Given the description of an element on the screen output the (x, y) to click on. 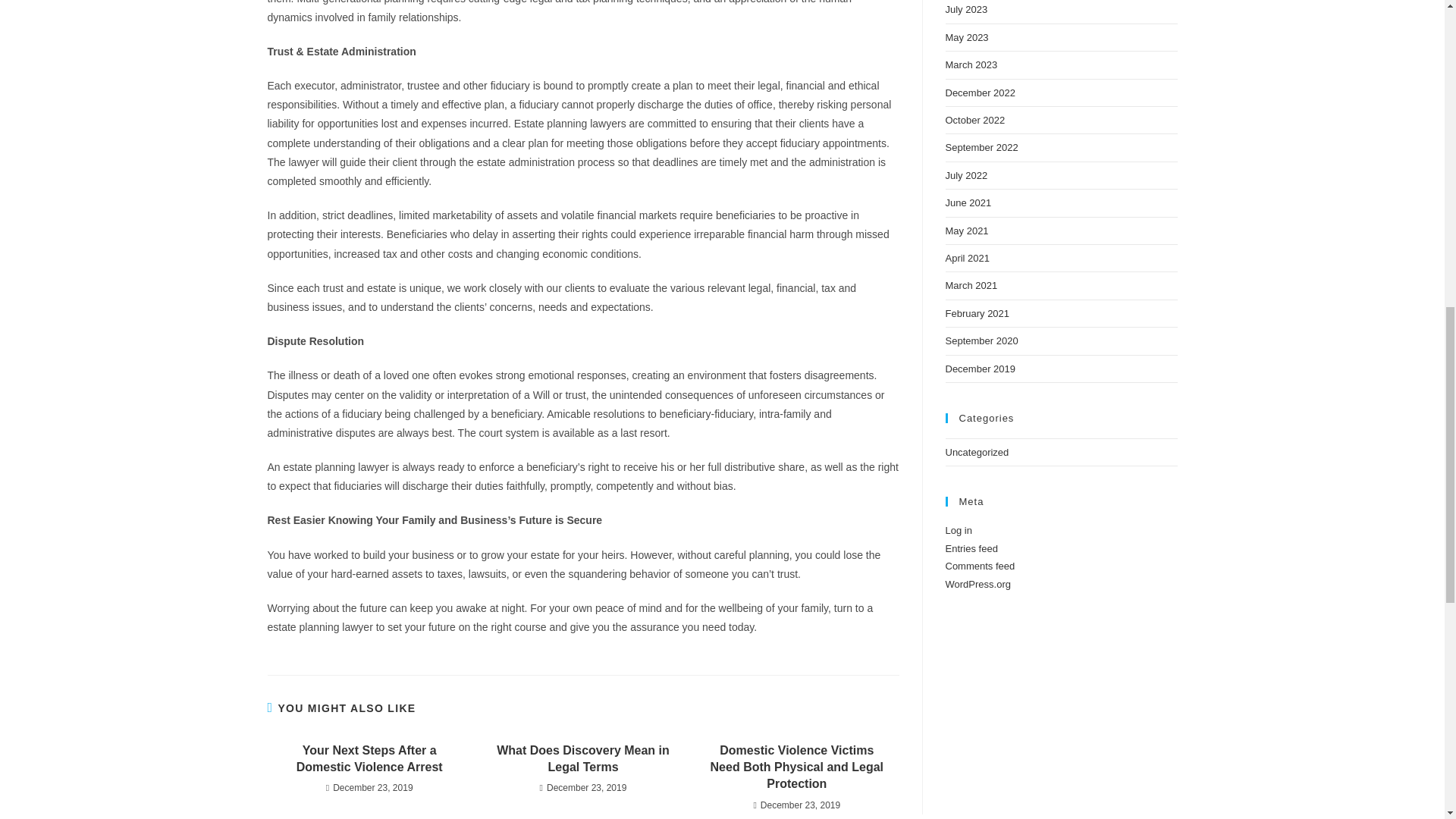
What Does Discovery Mean in Legal Terms (582, 759)
Your Next Steps After a Domestic Violence Arrest (368, 759)
